Given the description of an element on the screen output the (x, y) to click on. 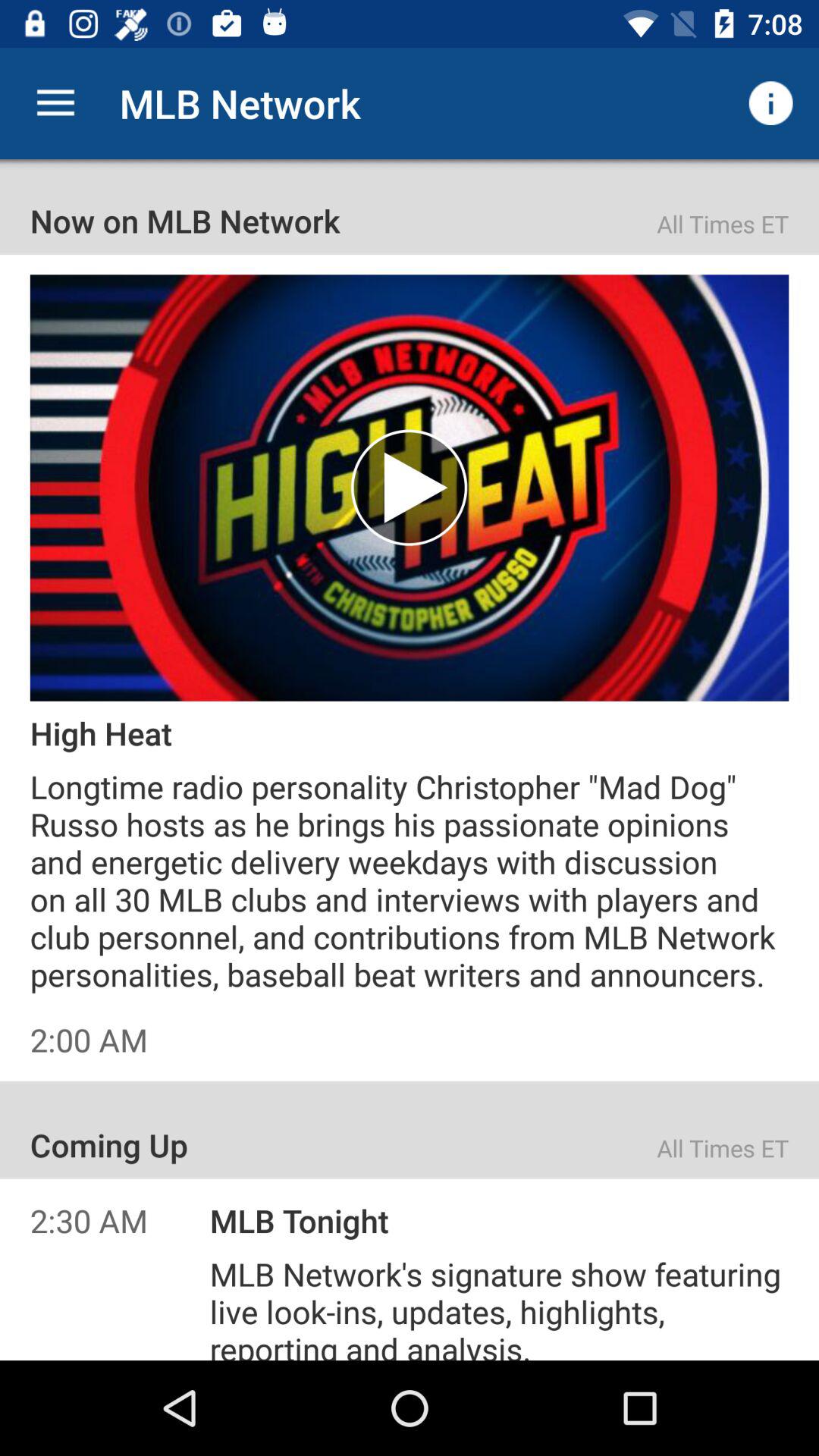
press the app next to the mlb network (55, 103)
